Given the description of an element on the screen output the (x, y) to click on. 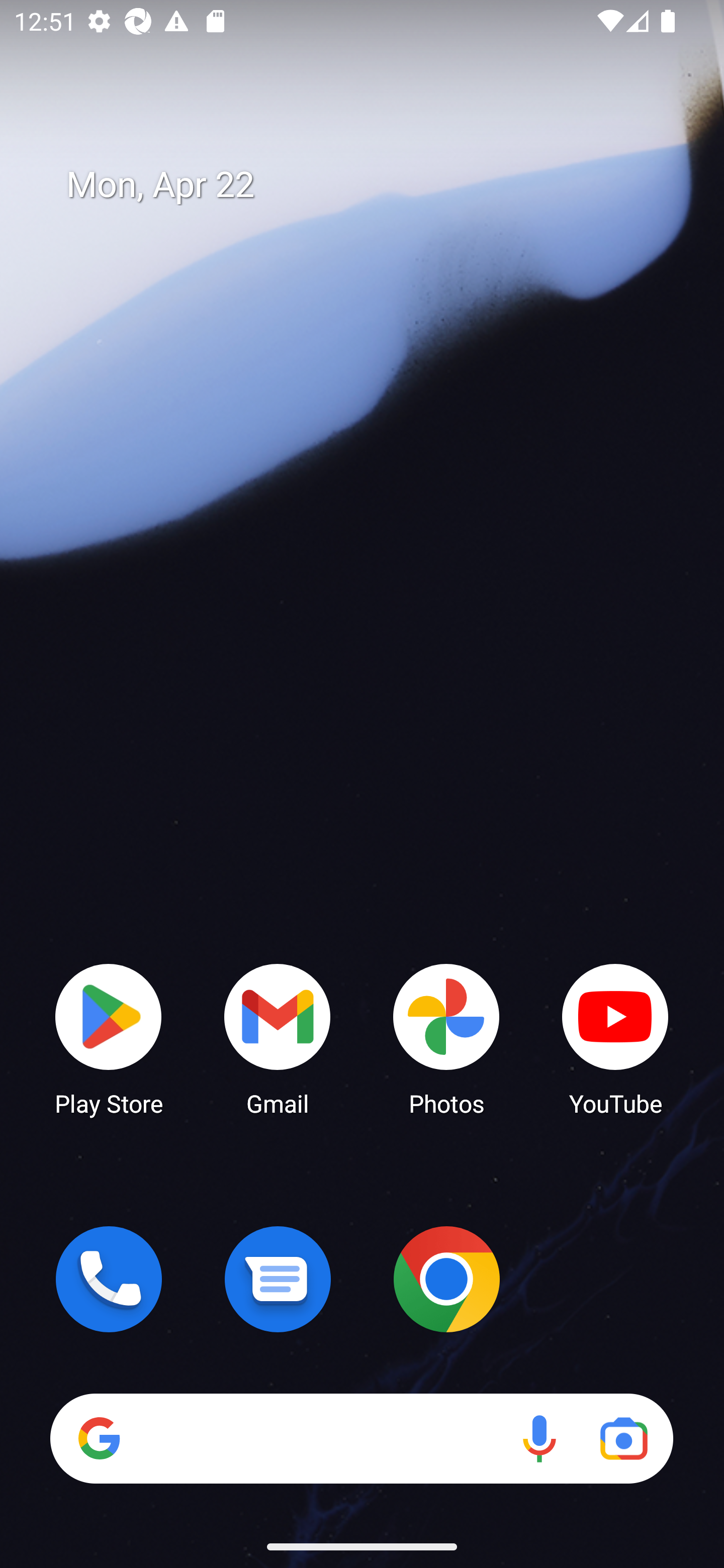
Mon, Apr 22 (375, 184)
Play Store (108, 1038)
Gmail (277, 1038)
Photos (445, 1038)
YouTube (615, 1038)
Phone (108, 1279)
Messages (277, 1279)
Chrome (446, 1279)
Search Voice search Google Lens (361, 1438)
Voice search (539, 1438)
Google Lens (623, 1438)
